Given the description of an element on the screen output the (x, y) to click on. 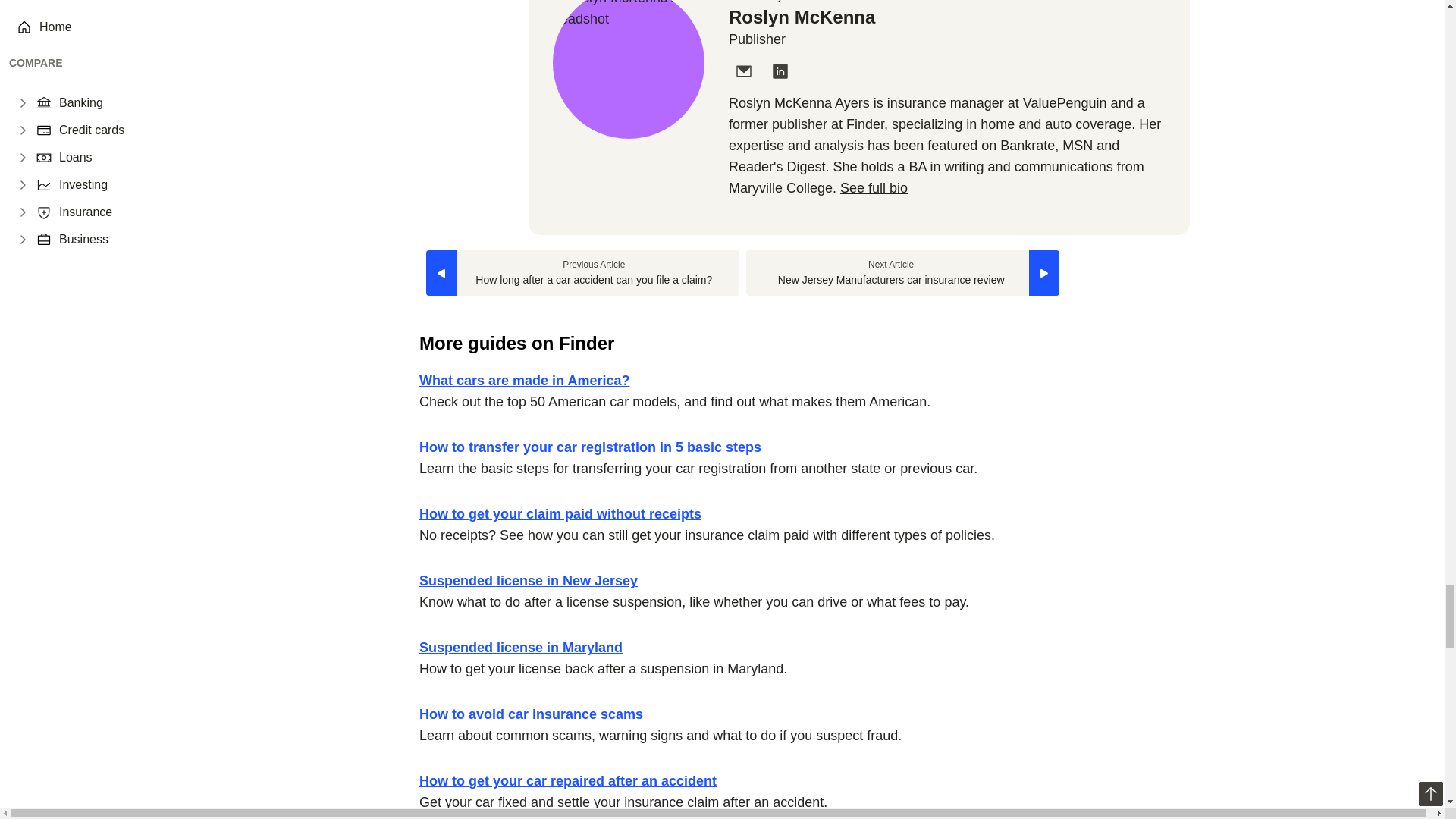
New Jersey Manufacturers car insurance review (902, 272)
How long after a car accident can you file a claim? (582, 272)
